Given the description of an element on the screen output the (x, y) to click on. 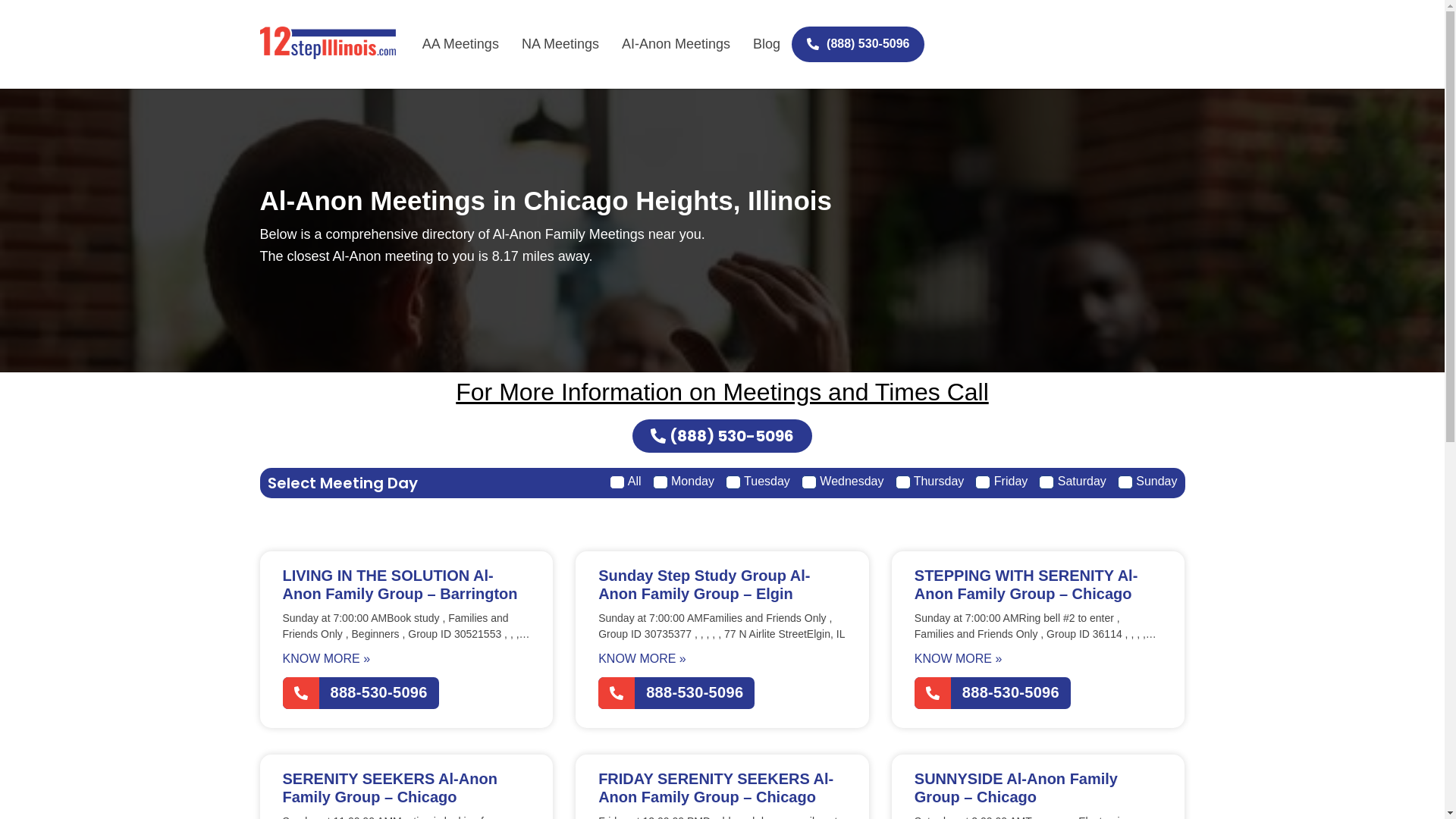
888-530-5096 Element type: text (992, 693)
888-530-5096 Element type: text (676, 693)
888-530-5096 Element type: text (360, 693)
Blog Element type: text (766, 43)
AA Meetings Element type: text (460, 43)
NA Meetings Element type: text (560, 43)
AI-Anon Meetings Element type: text (675, 43)
(888) 530-5096 Element type: text (722, 435)
(888) 530-5096 Element type: text (857, 44)
